Given the description of an element on the screen output the (x, y) to click on. 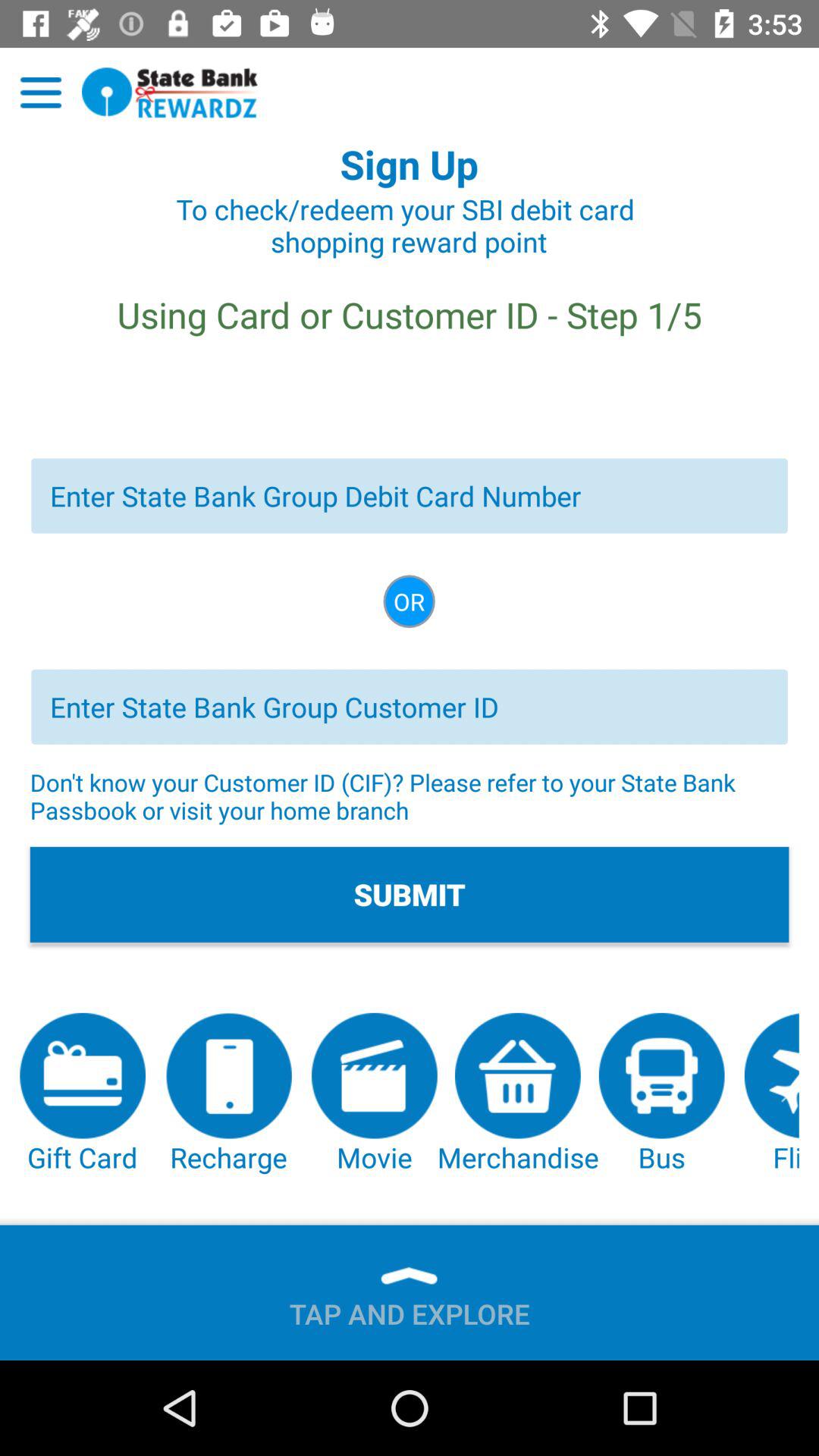
select the button above tap and explore button (517, 1094)
